Given the description of an element on the screen output the (x, y) to click on. 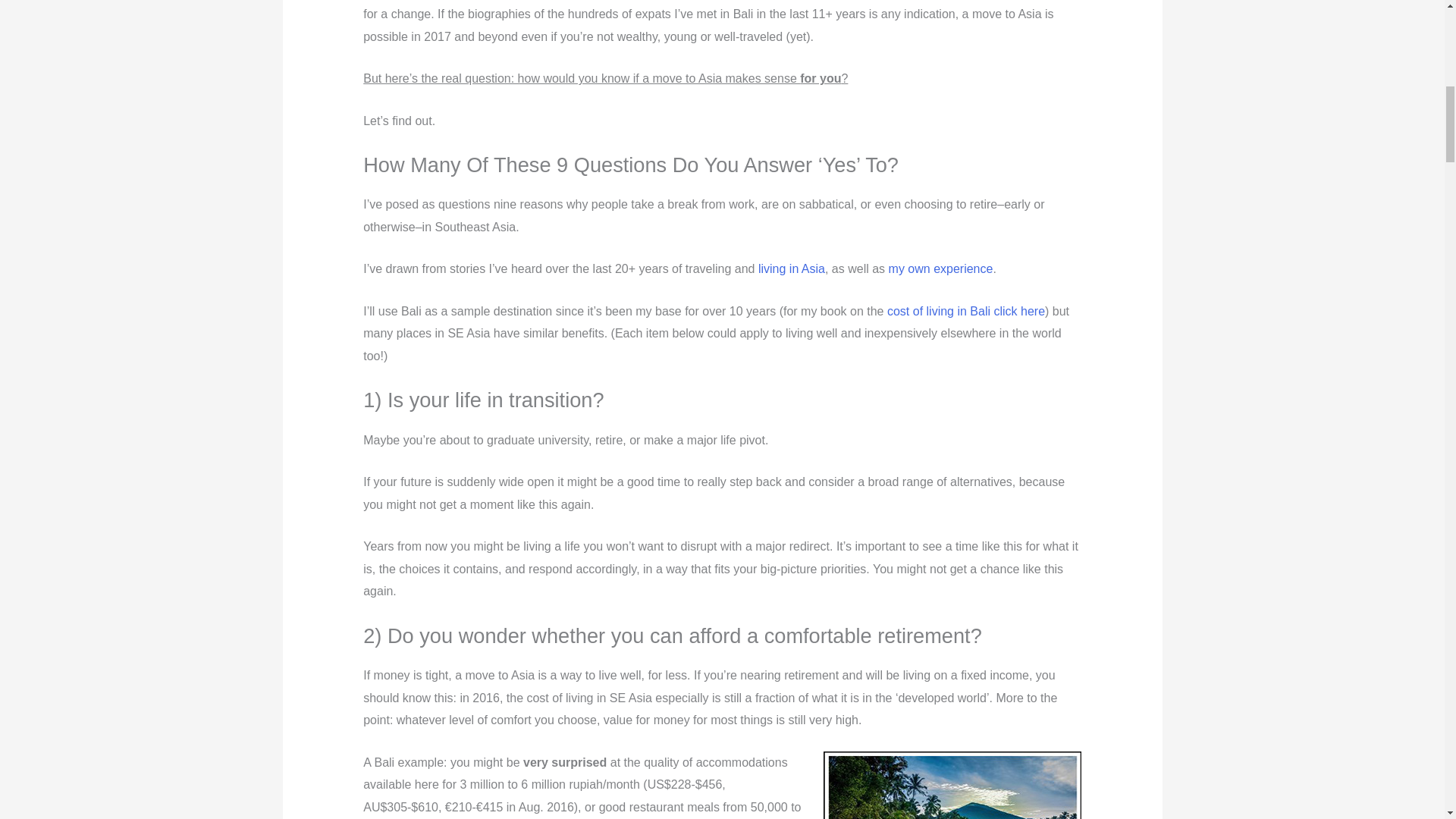
living in Asia (791, 268)
cost of living in Bali click here (965, 310)
my own experience (940, 268)
